Given the description of an element on the screen output the (x, y) to click on. 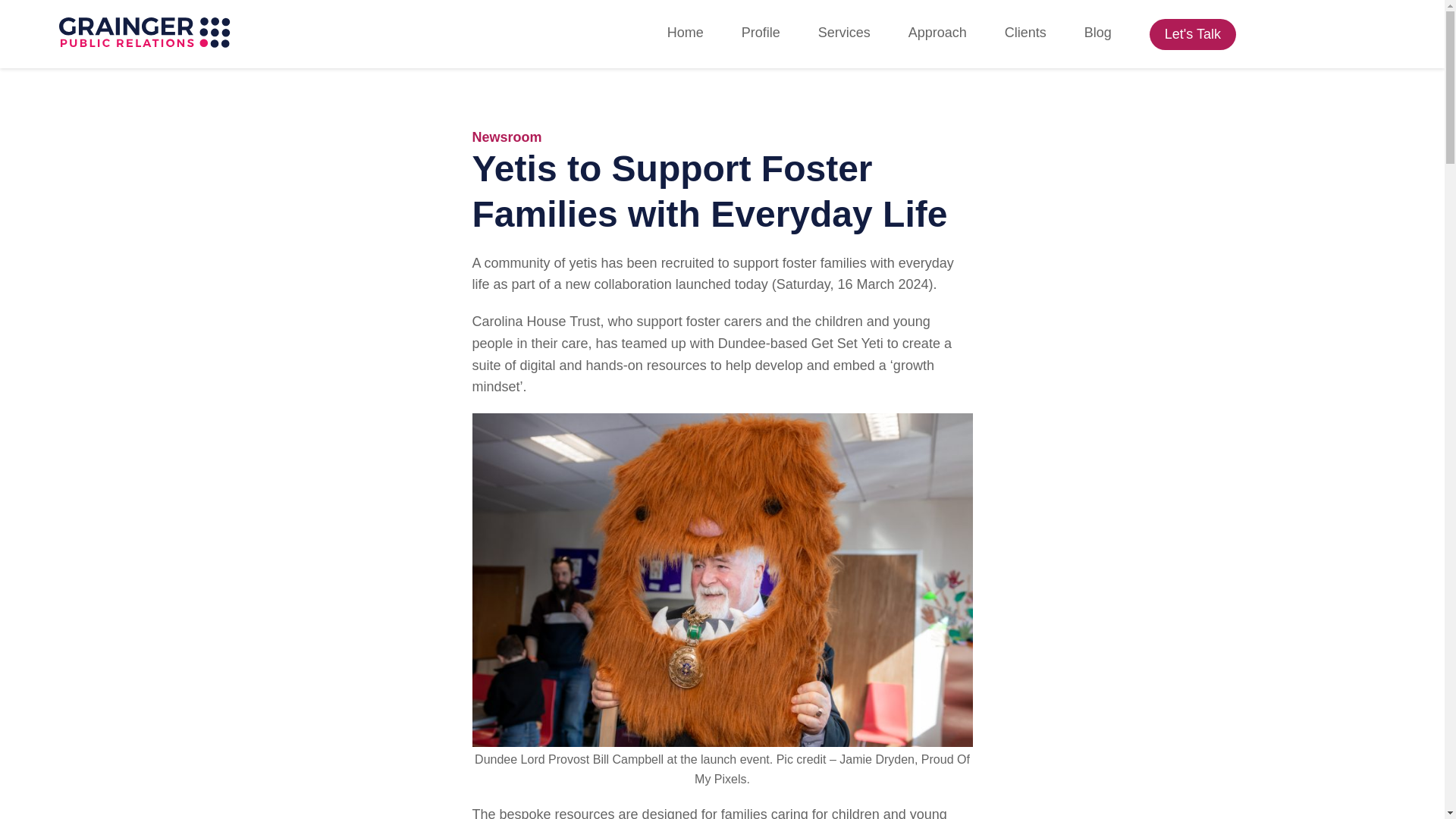
Blog (1098, 33)
Approach (937, 33)
Clients (1025, 33)
Profile (760, 33)
Services (844, 33)
Newsroom (506, 136)
Home (684, 33)
Return to Grainger PR homepage (144, 33)
Let's Talk (1193, 33)
